Given the description of an element on the screen output the (x, y) to click on. 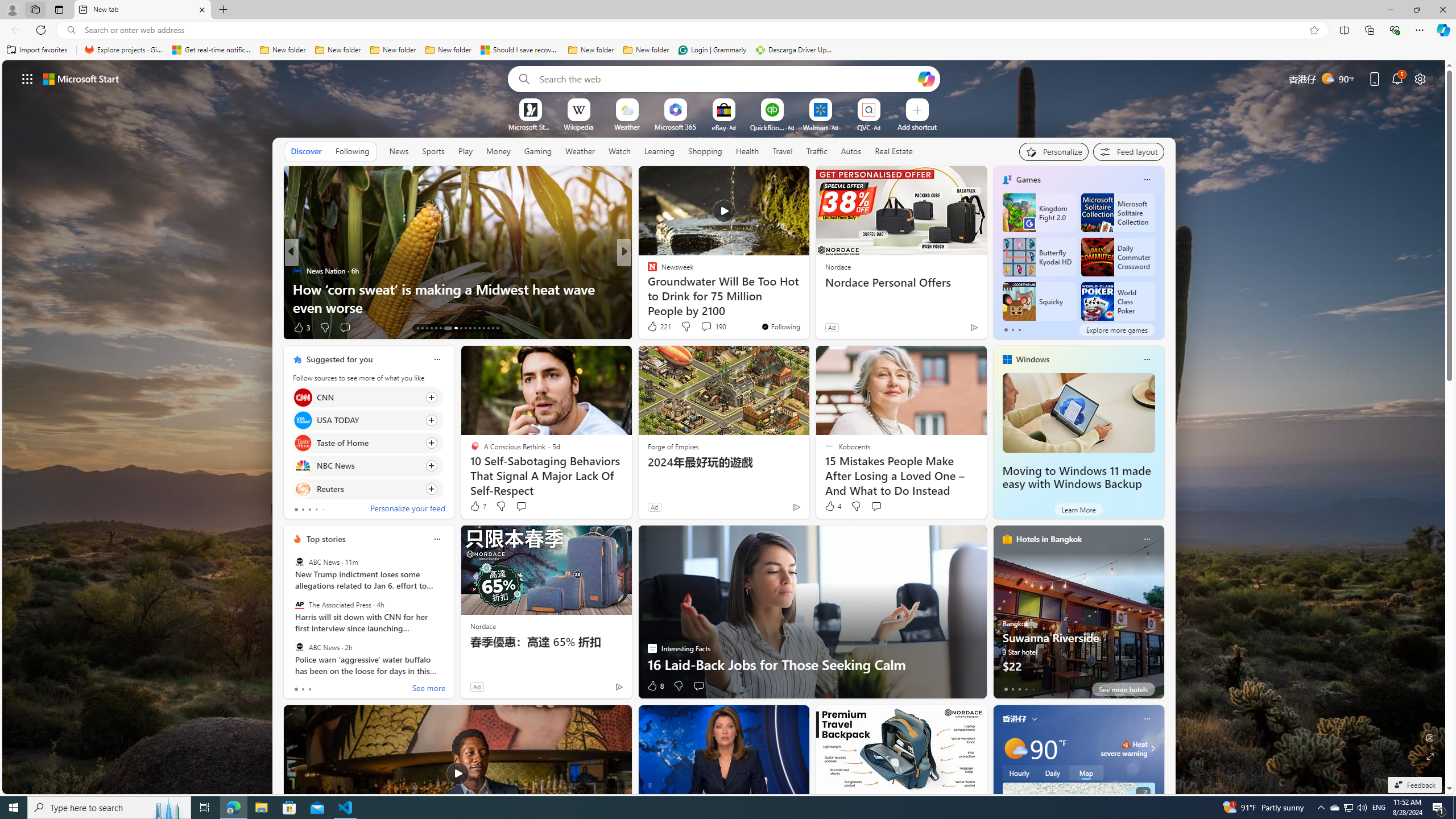
AutomationID: tab-29 (497, 328)
Copilot (Ctrl+Shift+.) (1442, 29)
View comments 174 Comment (709, 327)
Add a site (916, 126)
View comments 125 Comment (709, 327)
Ad Choice (619, 686)
Expand background (1430, 756)
Click to see more information (1142, 794)
Favorites bar (728, 49)
next (448, 611)
View comments 190 Comment (705, 326)
View comments 19 Comment (698, 327)
Ad (476, 686)
Notifications (1397, 78)
